Given the description of an element on the screen output the (x, y) to click on. 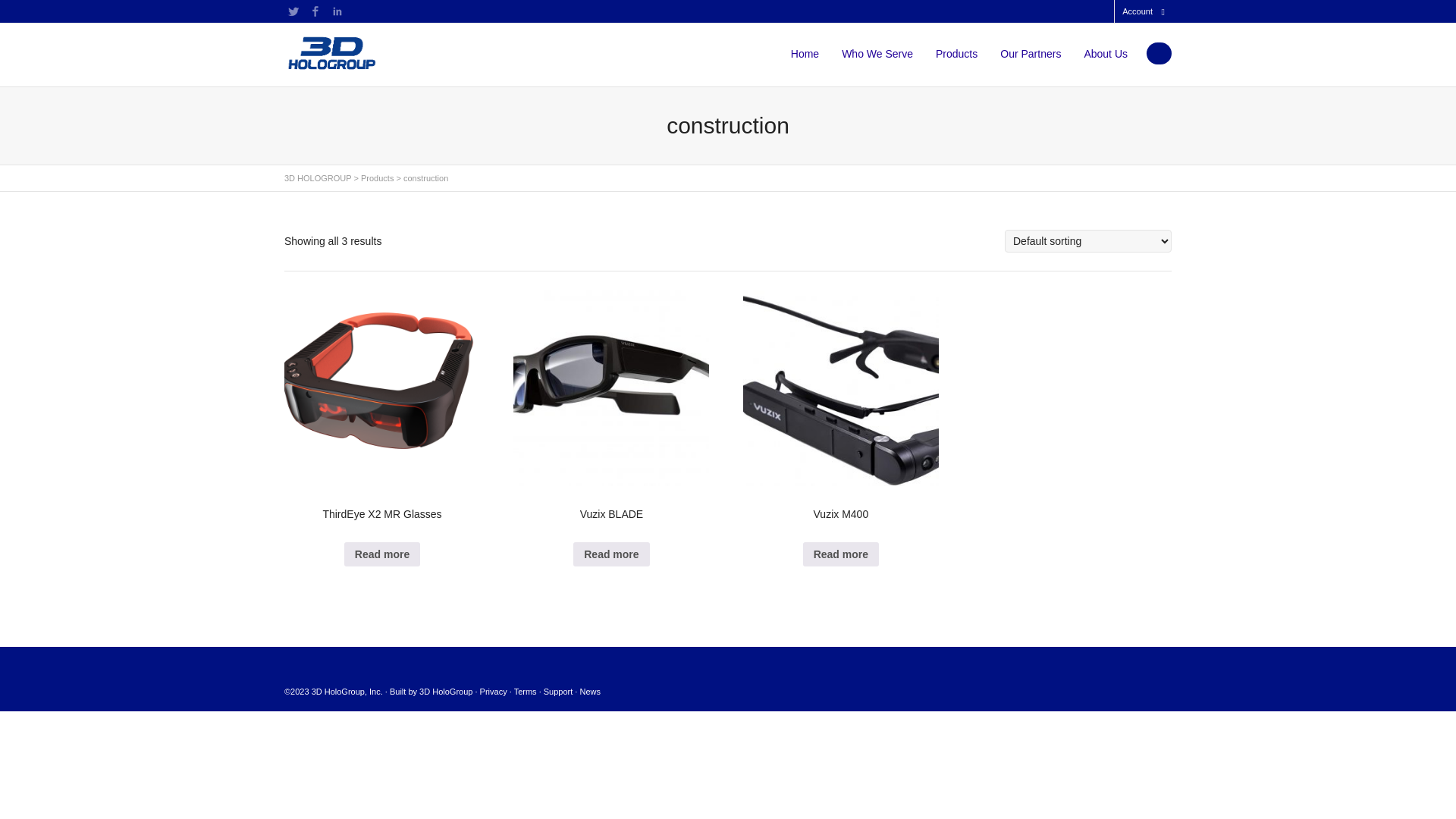
Who We Serve Element type: text (877, 53)
Home Element type: text (804, 53)
Products Element type: text (956, 53)
LinkedIn Element type: text (337, 11)
Vuzix M400 Element type: text (840, 410)
News Element type: text (589, 691)
Vuzix BLADE Element type: text (611, 410)
3D HoloGroup Element type: text (445, 691)
Our Partners Element type: text (1030, 53)
ThirdEye X2 MR Glasses Element type: text (382, 410)
Read more Element type: text (611, 553)
Terms Element type: text (525, 691)
Vuzix-Blade2 side Element type: hover (611, 388)
3D HOLOGROUP Element type: text (317, 177)
X2 transparent background Element type: hover (382, 388)
Read more Element type: text (840, 553)
Twitter Element type: text (293, 11)
Privacy Element type: text (493, 691)
Read more Element type: text (382, 553)
Account Element type: text (1137, 11)
Support Element type: text (558, 691)
Products Element type: text (376, 177)
m4001 Element type: hover (840, 388)
About Us Element type: text (1105, 53)
Facebook Element type: text (315, 11)
